Given the description of an element on the screen output the (x, y) to click on. 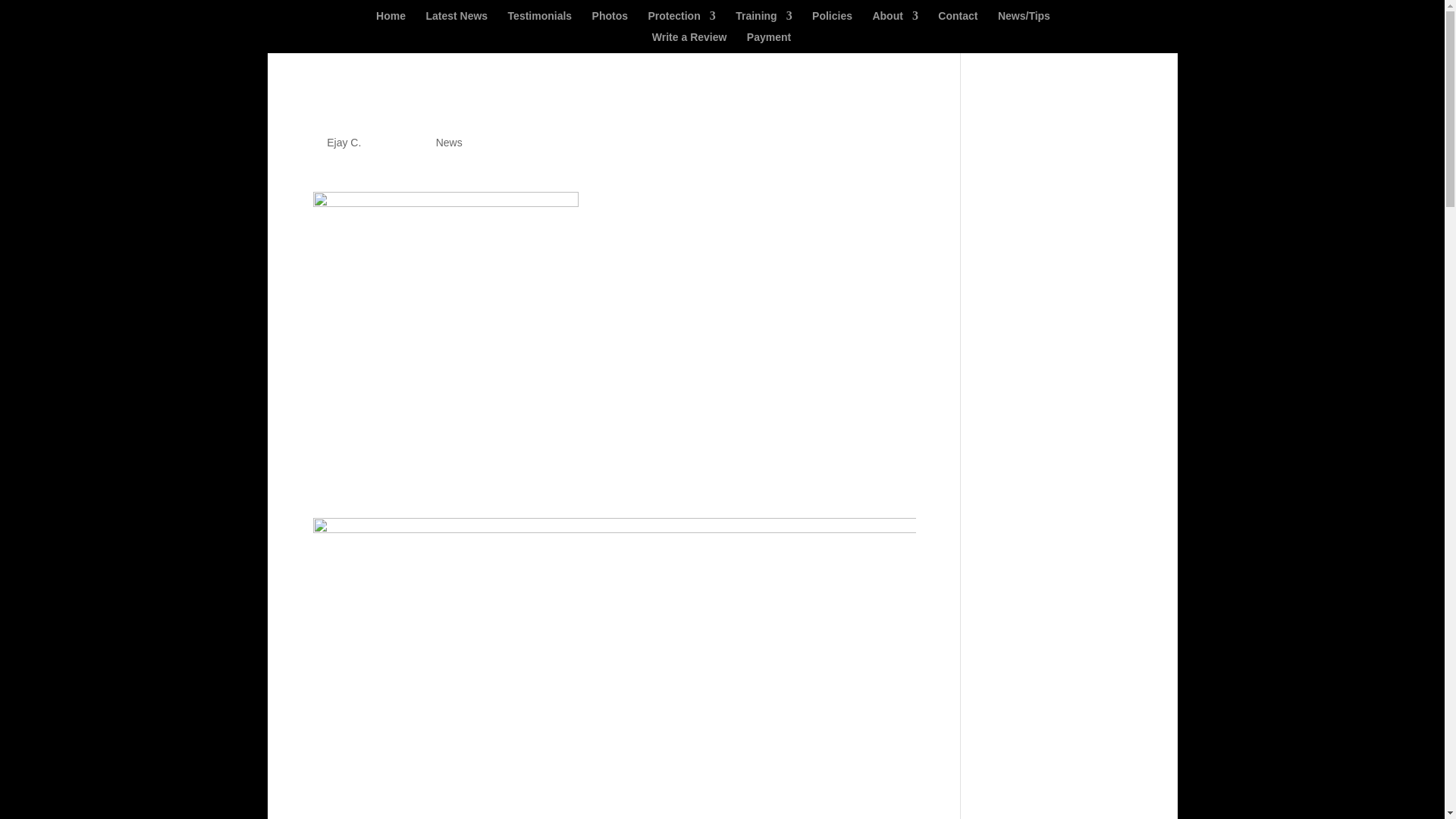
About (894, 20)
Contact (956, 20)
Posts by Ejay C. (343, 142)
Training (763, 20)
Payment (768, 42)
Home (390, 20)
Latest News (456, 20)
Photos (609, 20)
Write a Review (689, 42)
Policies (831, 20)
Testimonials (540, 20)
Protection (680, 20)
